Given the description of an element on the screen output the (x, y) to click on. 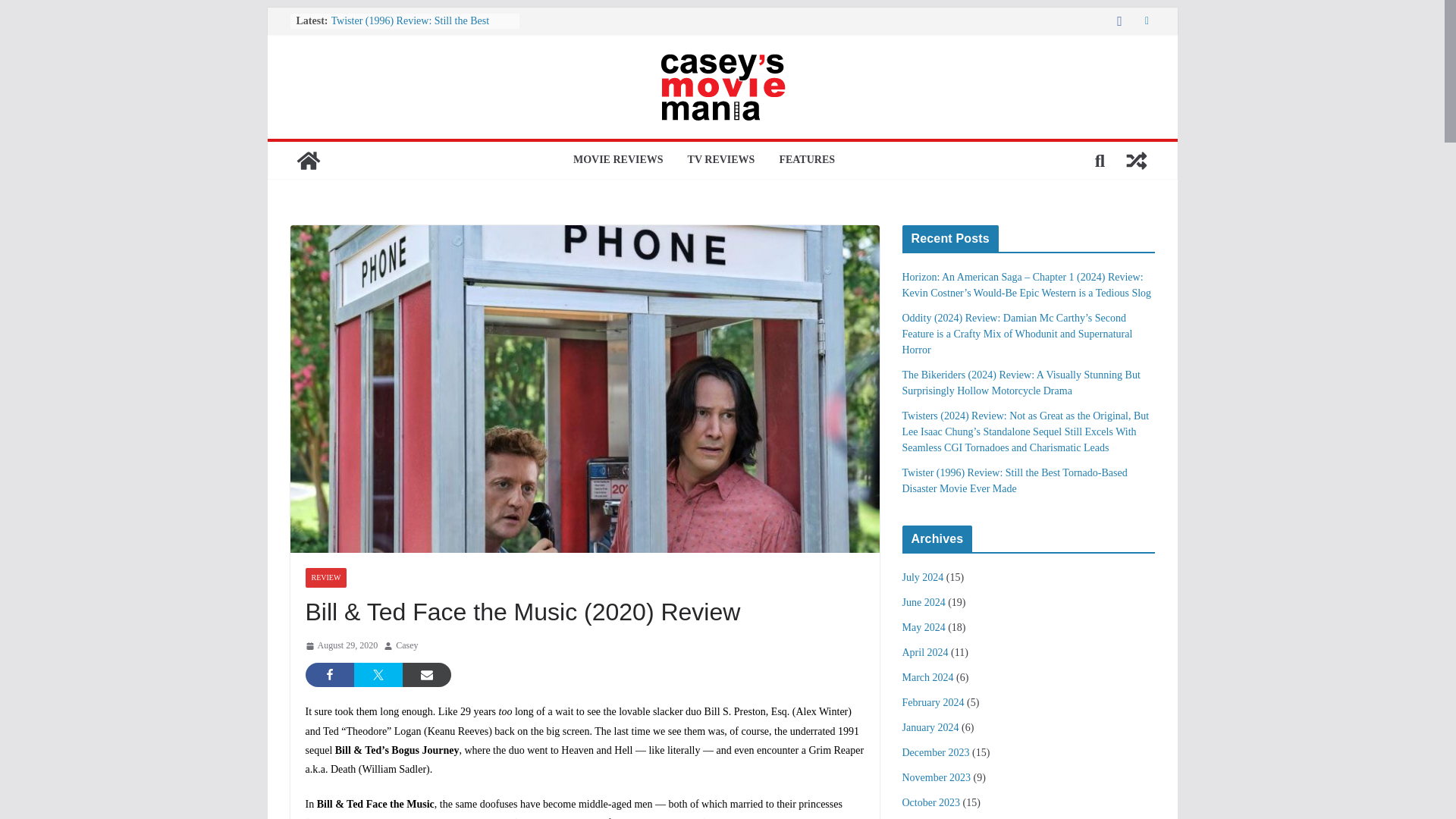
View a random post (1136, 160)
FEATURES (806, 160)
Share via Email (425, 674)
Casey (406, 646)
August 29, 2020 (340, 646)
Share on Twitter (377, 674)
Casey (406, 646)
9:51 pm (340, 646)
TV REVIEWS (721, 160)
MOVIE REVIEWS (618, 160)
REVIEW (325, 578)
Like on Facebook (328, 674)
Casey's Movie Mania (307, 160)
